Given the description of an element on the screen output the (x, y) to click on. 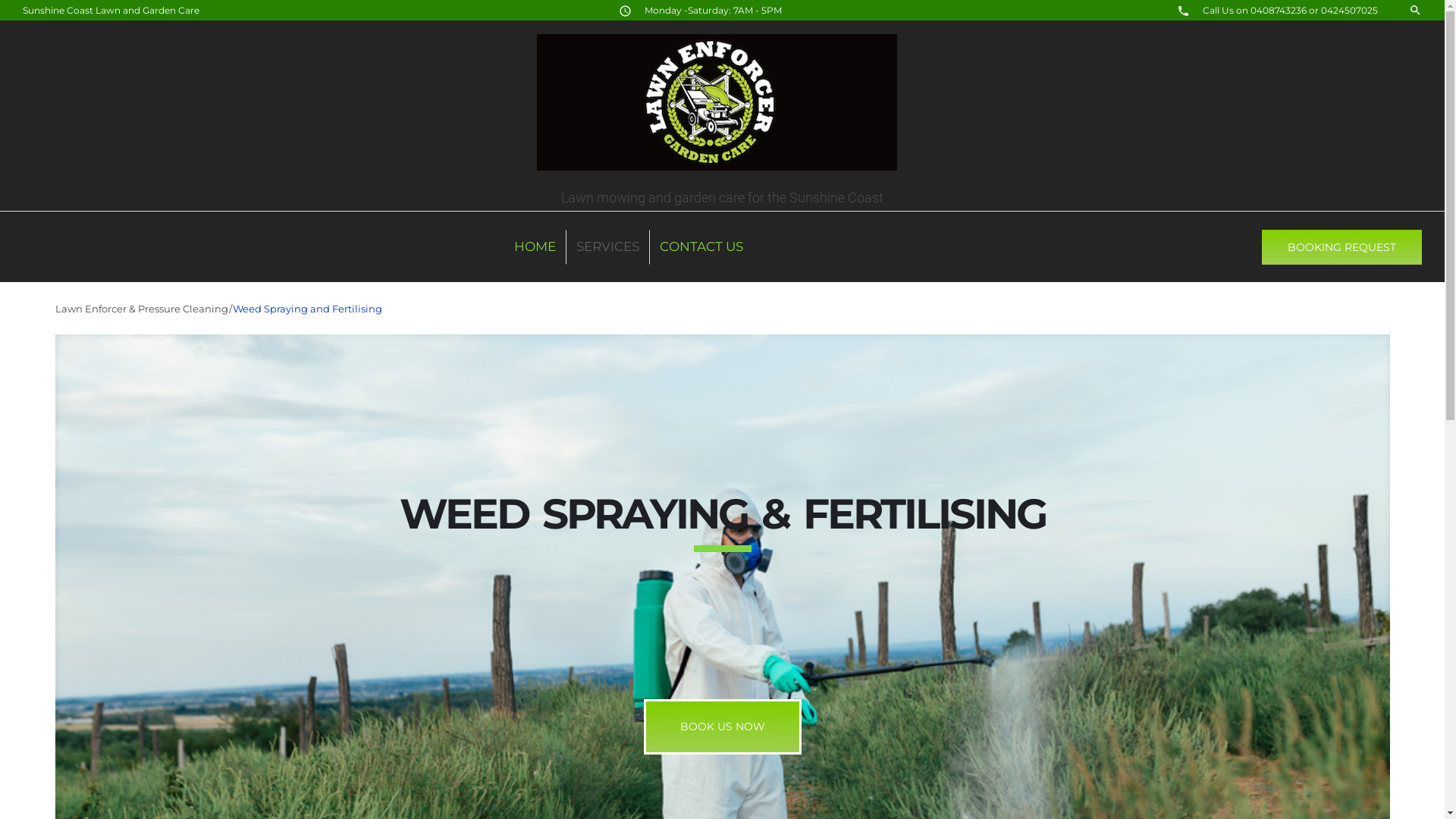
SERVICES Element type: text (607, 246)
HOME Element type: text (534, 246)
Lawn Enforcer & Pressure Cleaning Element type: text (140, 308)
WEED SPRAYING & FERTILISING Element type: text (721, 513)
BOOKING REQUEST Element type: text (1341, 246)
BOOK US NOW Element type: text (721, 726)
CONTACT US Element type: text (701, 246)
